Given the description of an element on the screen output the (x, y) to click on. 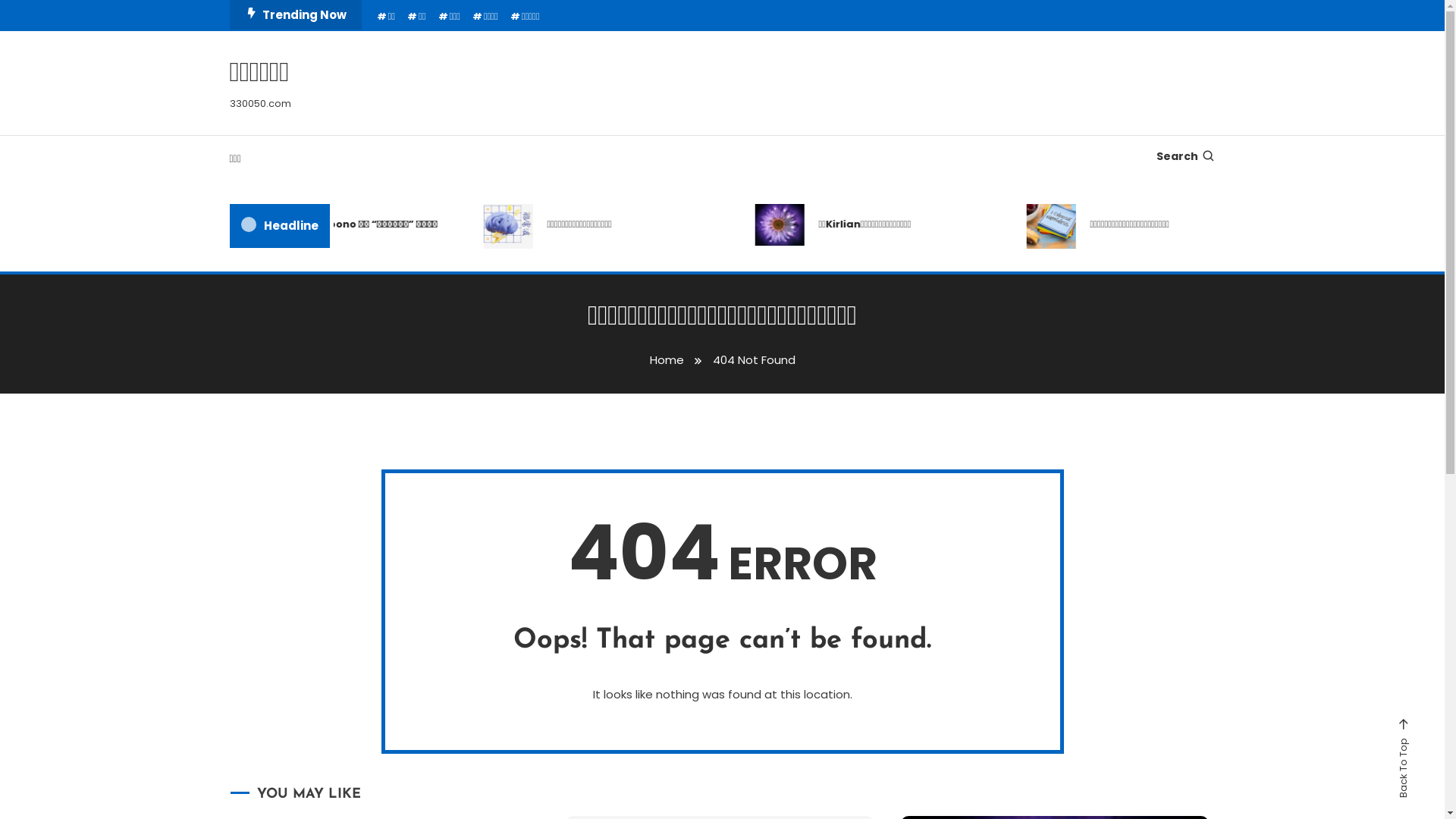
Search Element type: text (770, 434)
Home Element type: text (666, 359)
Search Element type: text (1184, 155)
